Given the description of an element on the screen output the (x, y) to click on. 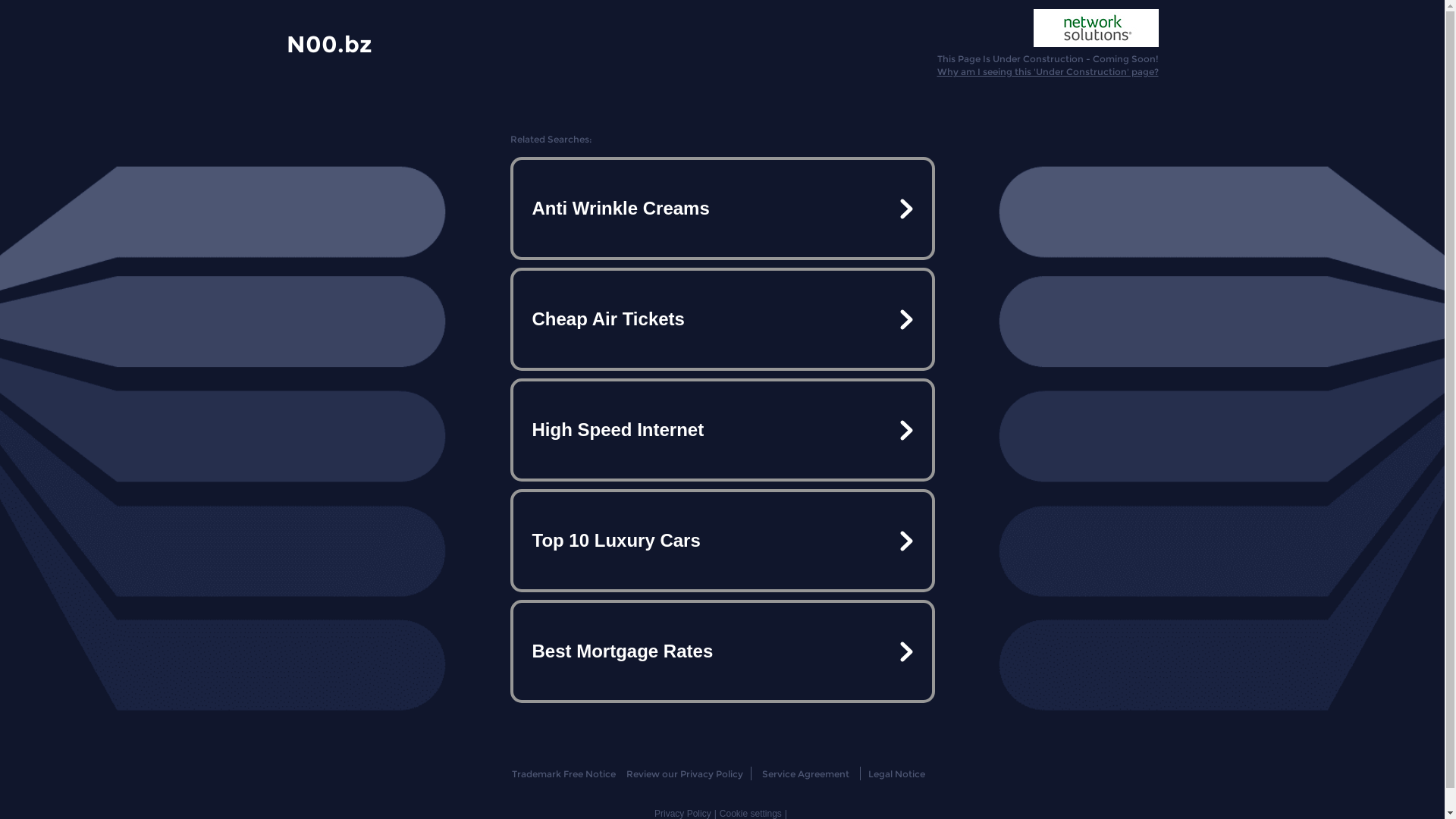
Best Mortgage Rates Element type: text (721, 650)
Why am I seeing this 'Under Construction' page? Element type: text (1047, 71)
Top 10 Luxury Cars Element type: text (721, 540)
Trademark Free Notice Element type: text (563, 773)
High Speed Internet Element type: text (721, 429)
Legal Notice Element type: text (896, 773)
Cheap Air Tickets Element type: text (721, 318)
Anti Wrinkle Creams Element type: text (721, 208)
Service Agreement Element type: text (805, 773)
N00.bz Element type: text (329, 43)
Review our Privacy Policy Element type: text (684, 773)
